Given the description of an element on the screen output the (x, y) to click on. 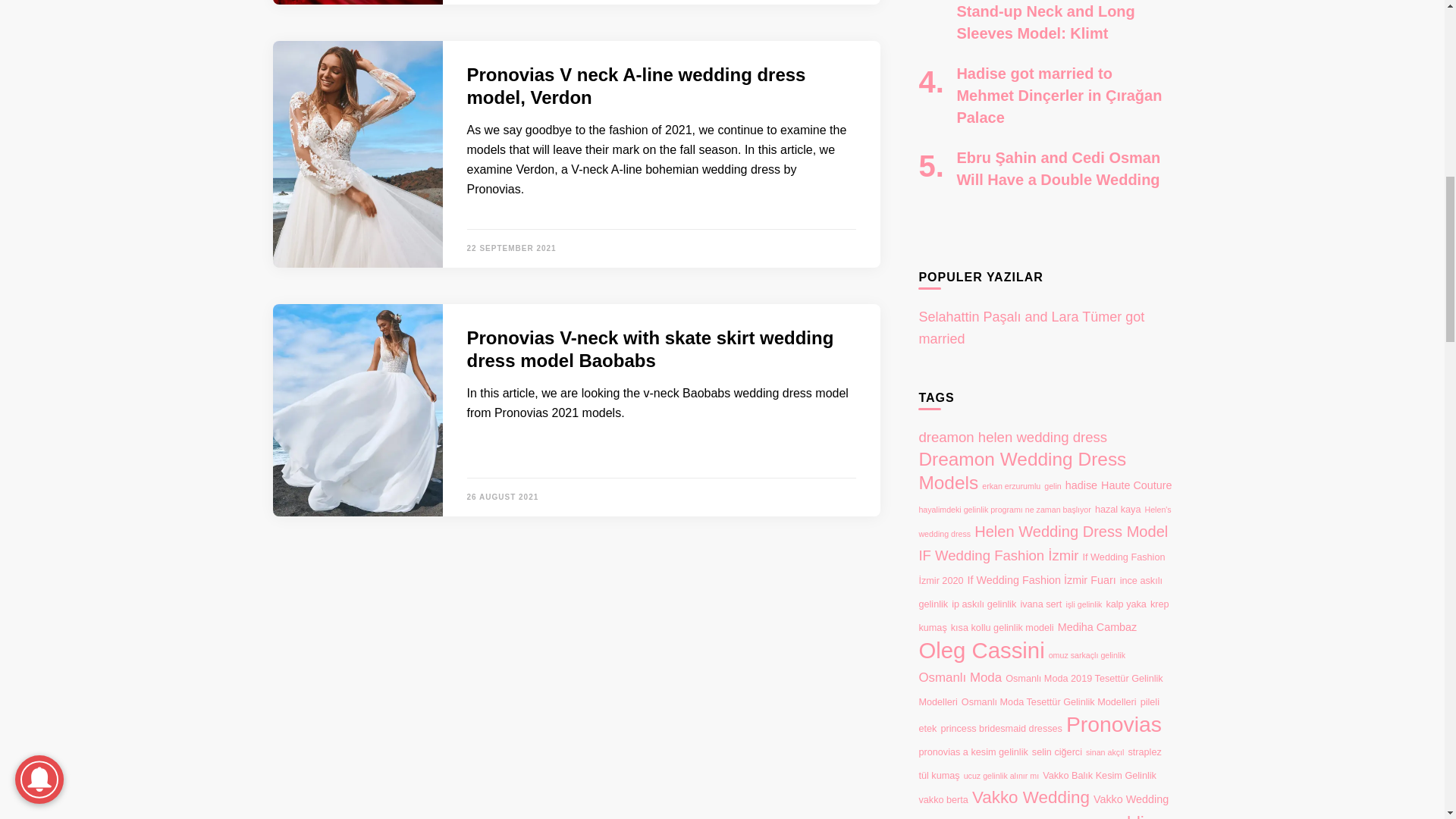
22 SEPTEMBER 2021 (511, 248)
26 AUGUST 2021 (502, 497)
Pronovias V neck A-line wedding dress model, Verdon (636, 85)
